Given the description of an element on the screen output the (x, y) to click on. 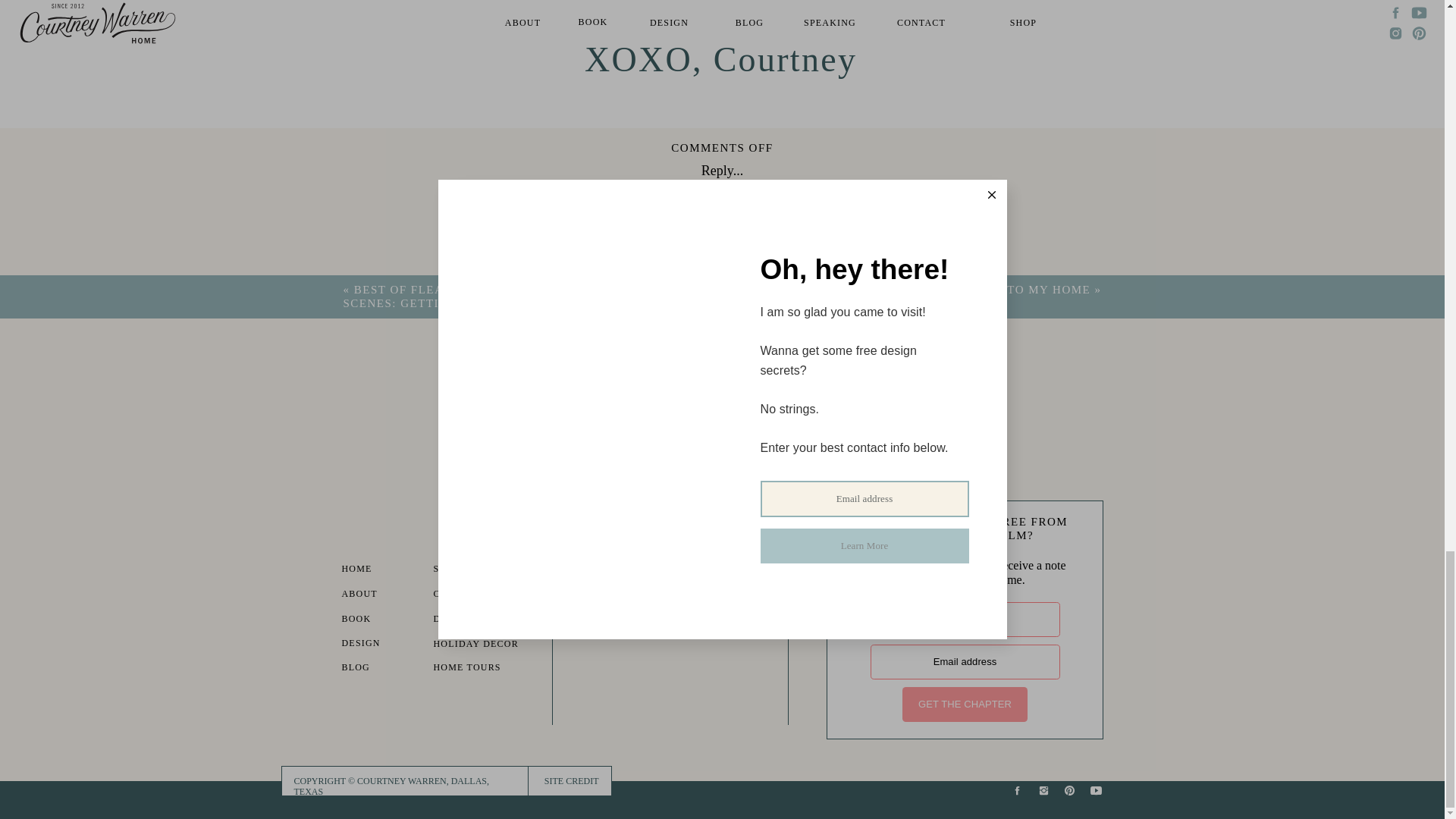
DESIGN (381, 644)
What interests you more? (644, 389)
WHEN THE MAGAZINE CAME TO MY HOME (955, 289)
HOME (381, 570)
BLOG (381, 668)
SITE CREDIT (567, 781)
DESIGN SOLUTIONS (493, 620)
ABOUT (381, 595)
HOLIDAY DECOR (485, 645)
GET THE CHAPTER (964, 704)
HOME TOURS (474, 668)
SPEAKING (474, 570)
CONTACT (474, 595)
